Given the description of an element on the screen output the (x, y) to click on. 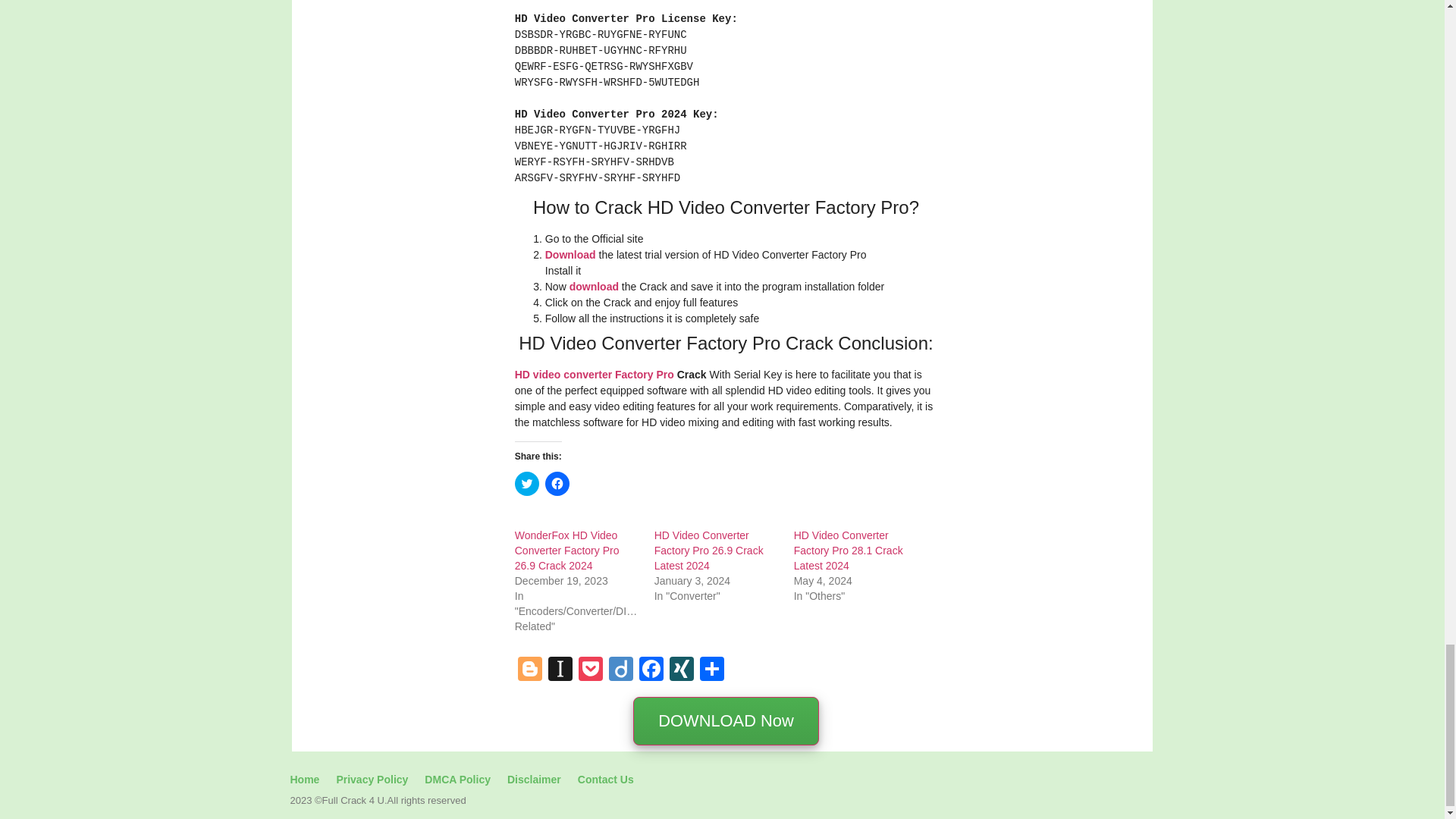
Pocket (590, 670)
Instapaper (559, 670)
Diigo (620, 670)
HD Video Converter Factory Pro 26.9 Crack Latest 2024 (707, 550)
Facebook (651, 670)
XING (681, 670)
WonderFox HD Video Converter Factory Pro 26.9 Crack 2024 (567, 550)
HD Video Converter Factory Pro 28.1 Crack Latest 2024 (847, 550)
Blogger (529, 670)
Click to share on Twitter (526, 483)
